Given the description of an element on the screen output the (x, y) to click on. 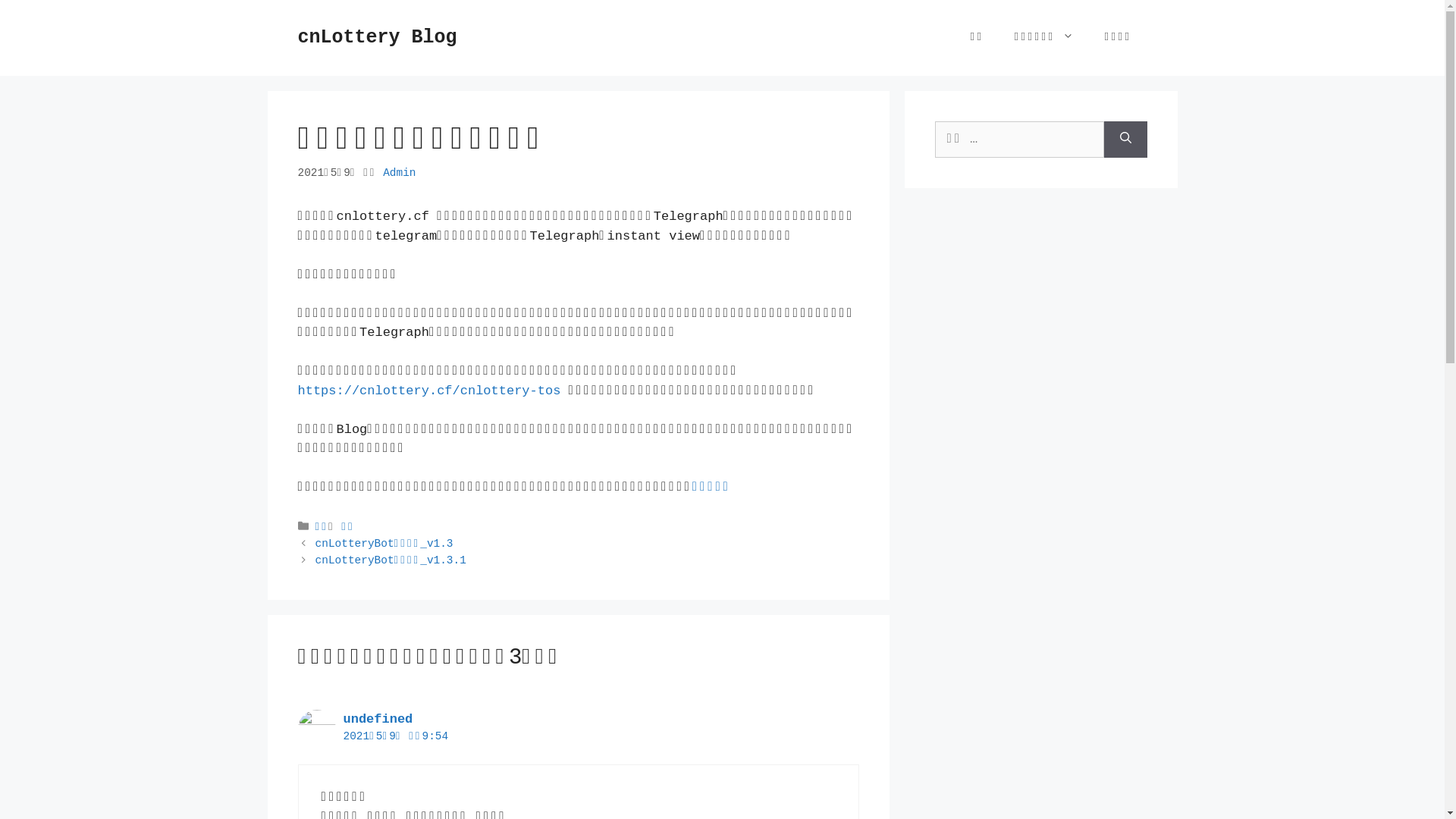
https://cnlottery.cf/cnlottery-tos Element type: text (428, 390)
cnLottery Blog Element type: text (376, 37)
Admin Element type: text (398, 172)
undefined Element type: text (377, 719)
